Given the description of an element on the screen output the (x, y) to click on. 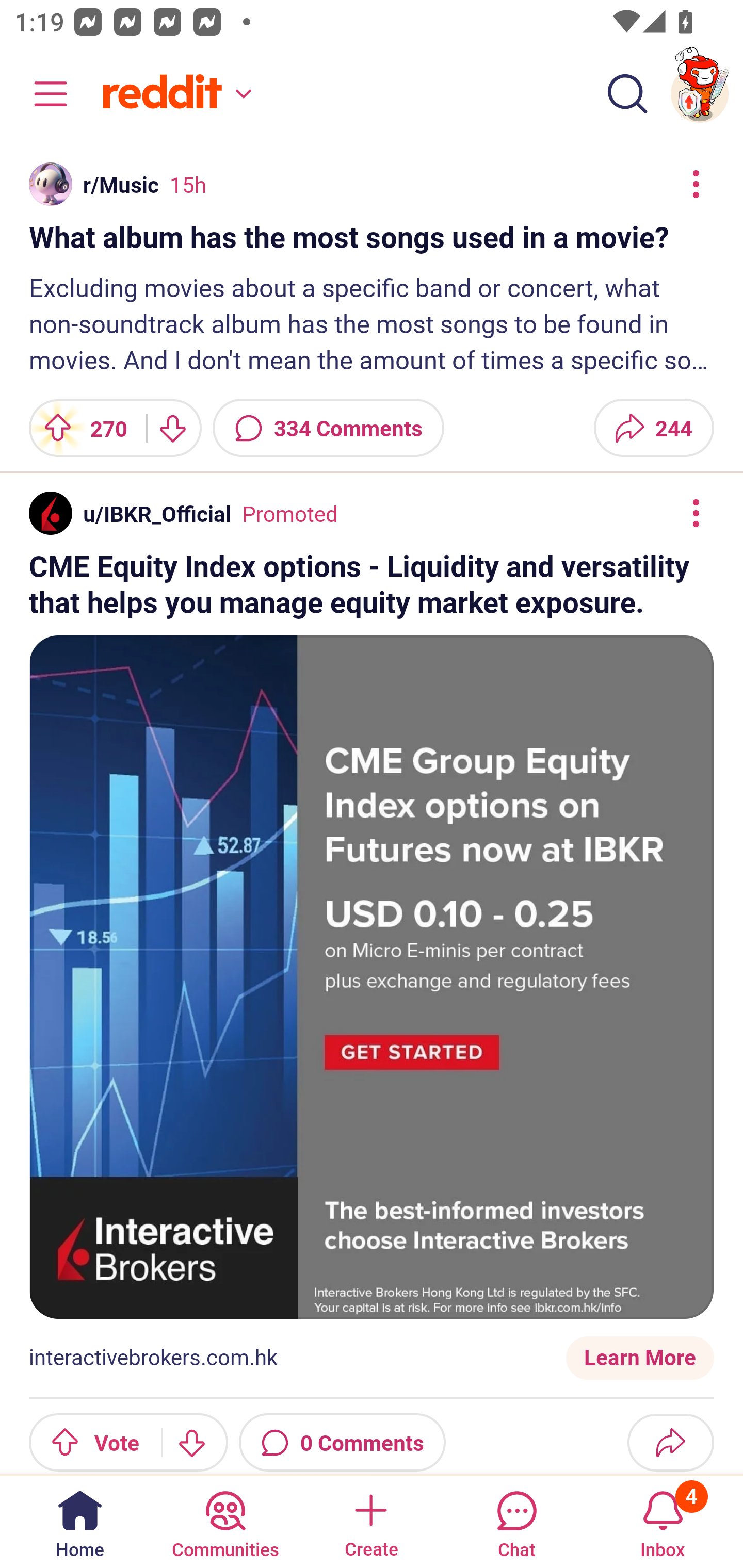
Search (626, 93)
TestAppium002 account (699, 93)
Community menu (41, 94)
Home feed (173, 94)
Home (80, 1520)
Communities (225, 1520)
Create a post Create (370, 1520)
Chat (516, 1520)
Inbox, has 4 notifications 4 Inbox (662, 1520)
